Given the description of an element on the screen output the (x, y) to click on. 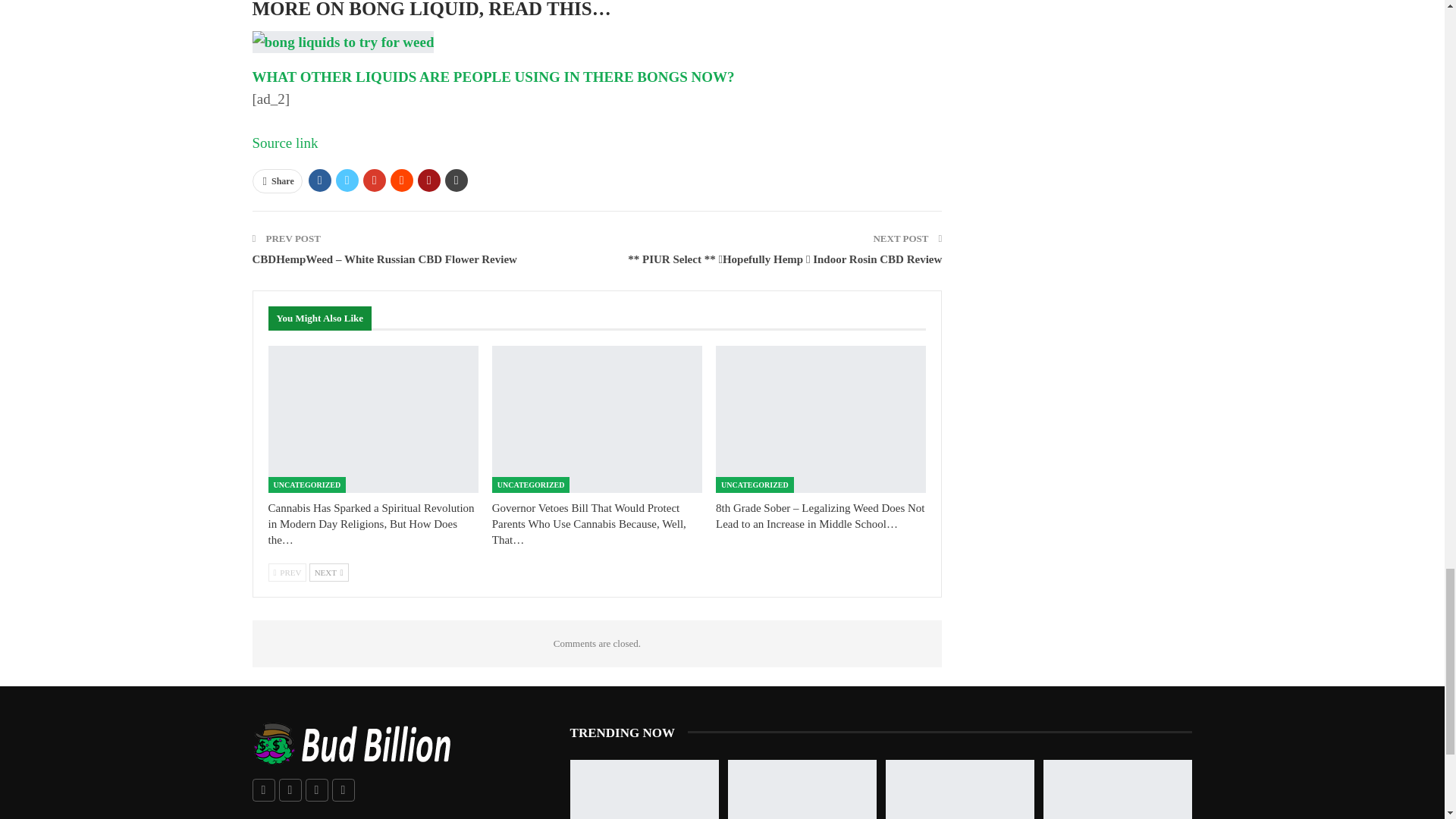
Previous (287, 572)
Next (328, 572)
WHAT OTHER LIQUIDS ARE PEOPLE USING IN THERE BONGS NOW? (492, 76)
Source link (284, 142)
